Given the description of an element on the screen output the (x, y) to click on. 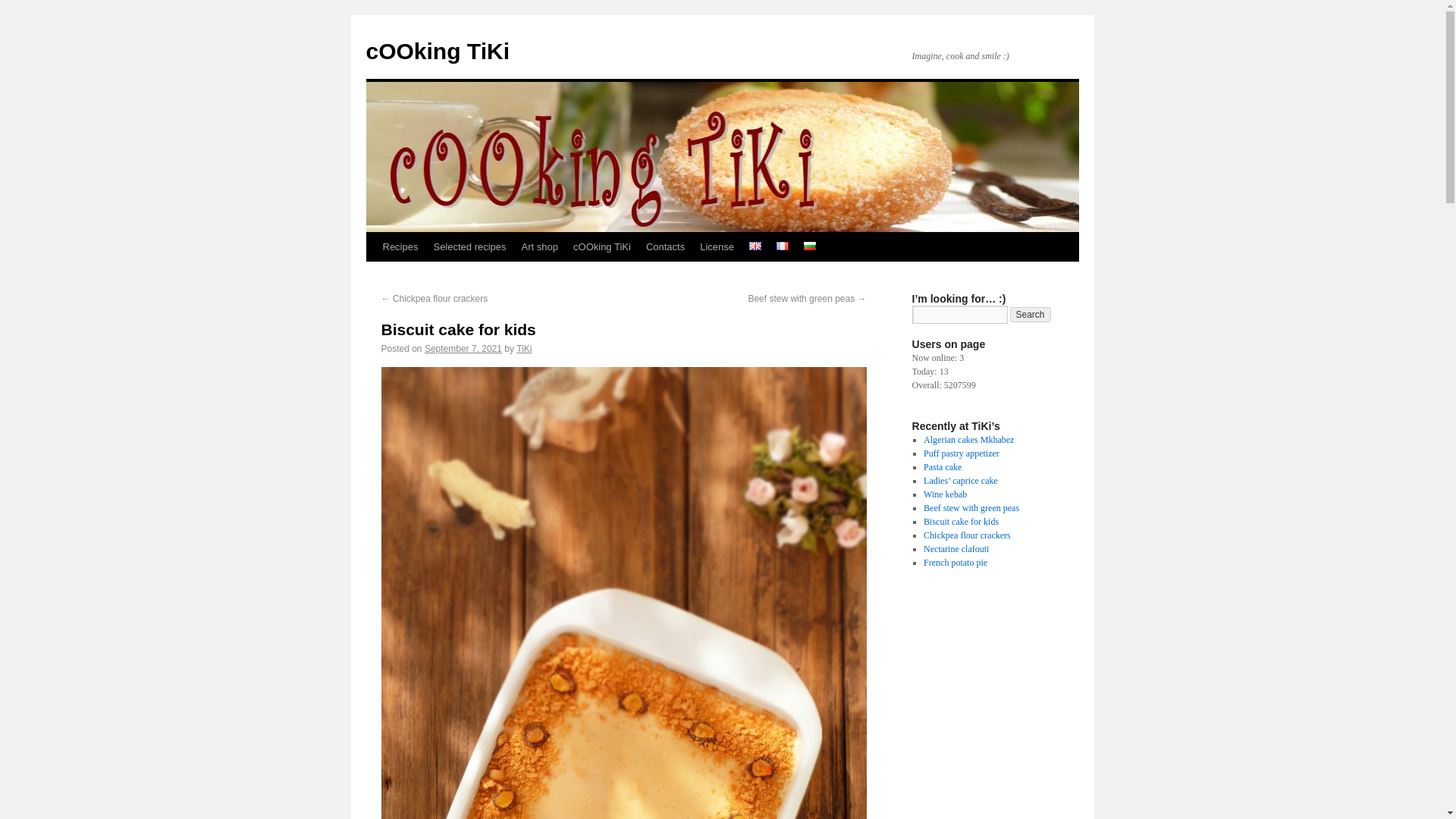
Algerian cakes Mkhabez (968, 439)
Contacts (666, 246)
Art shop (539, 246)
English (755, 245)
Recipes (399, 246)
September 7, 2021 (463, 348)
cOOking TiKi (436, 50)
Puff pastry appetizer (960, 452)
View all posts by TiKi (523, 348)
Search (1030, 314)
License (717, 246)
10:15 (463, 348)
cOOking TiKi (602, 246)
cOOking TiKi (436, 50)
